Given the description of an element on the screen output the (x, y) to click on. 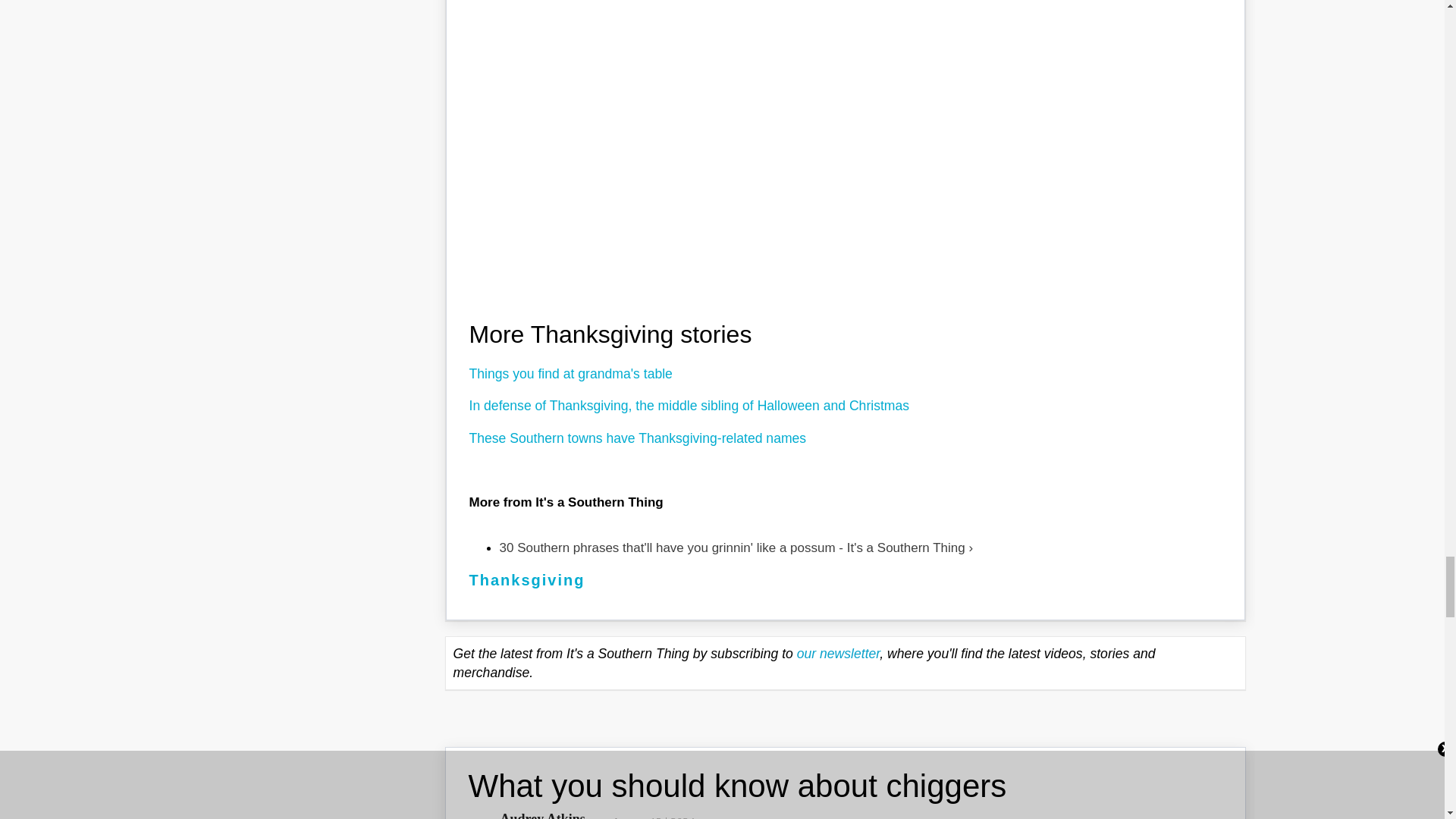
Things you find at grandma's table (569, 373)
These Southern towns have Thanksgiving-related names (637, 437)
Thanksgiving (526, 579)
